Given the description of an element on the screen output the (x, y) to click on. 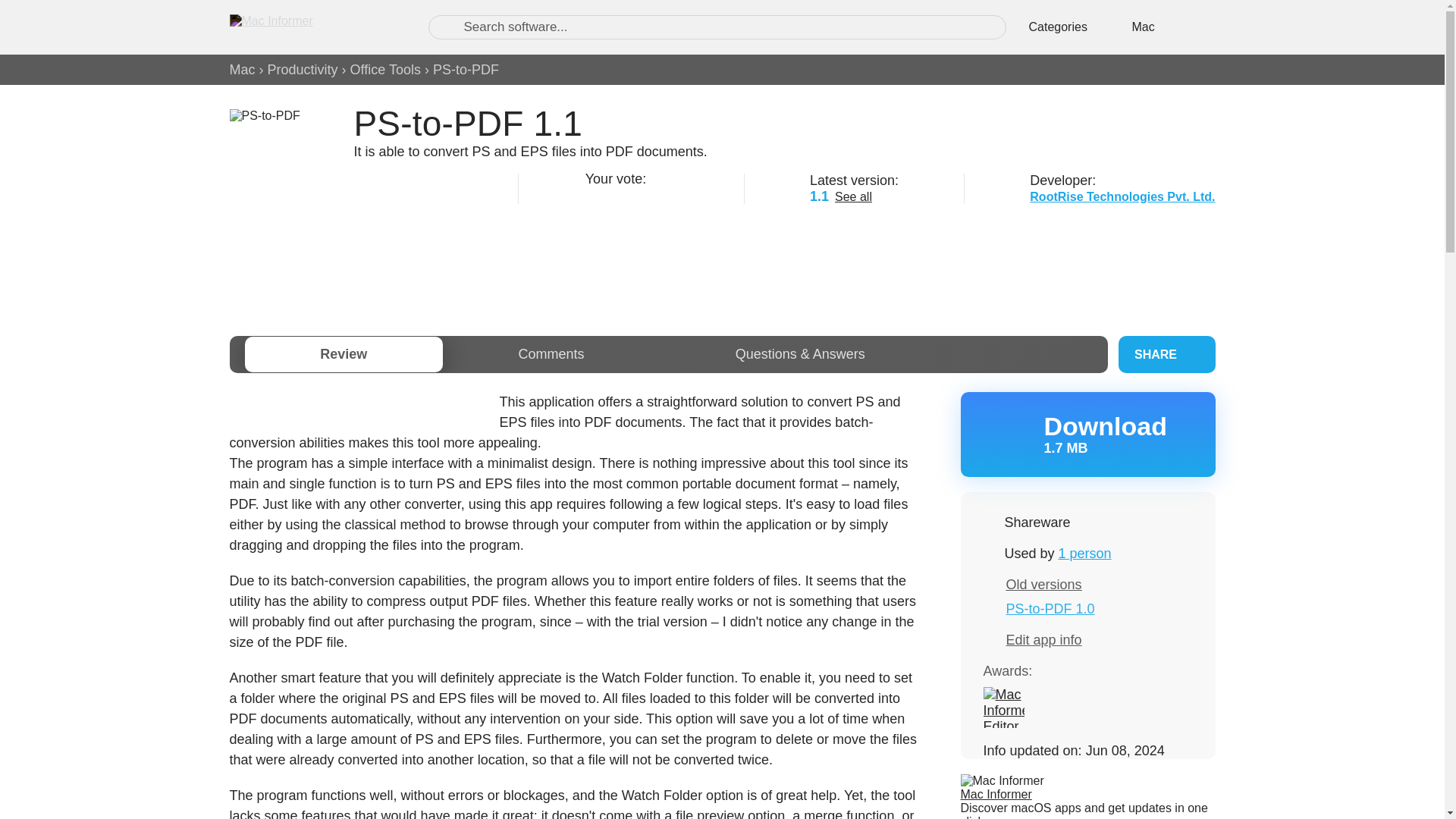
Old versions (1043, 584)
PS-to-PDF 1.0 (1050, 608)
Review (343, 354)
2 (611, 193)
5 (668, 193)
Productivity (302, 69)
Editors' choice award (1002, 707)
Comments (550, 354)
Review (343, 354)
